Given the description of an element on the screen output the (x, y) to click on. 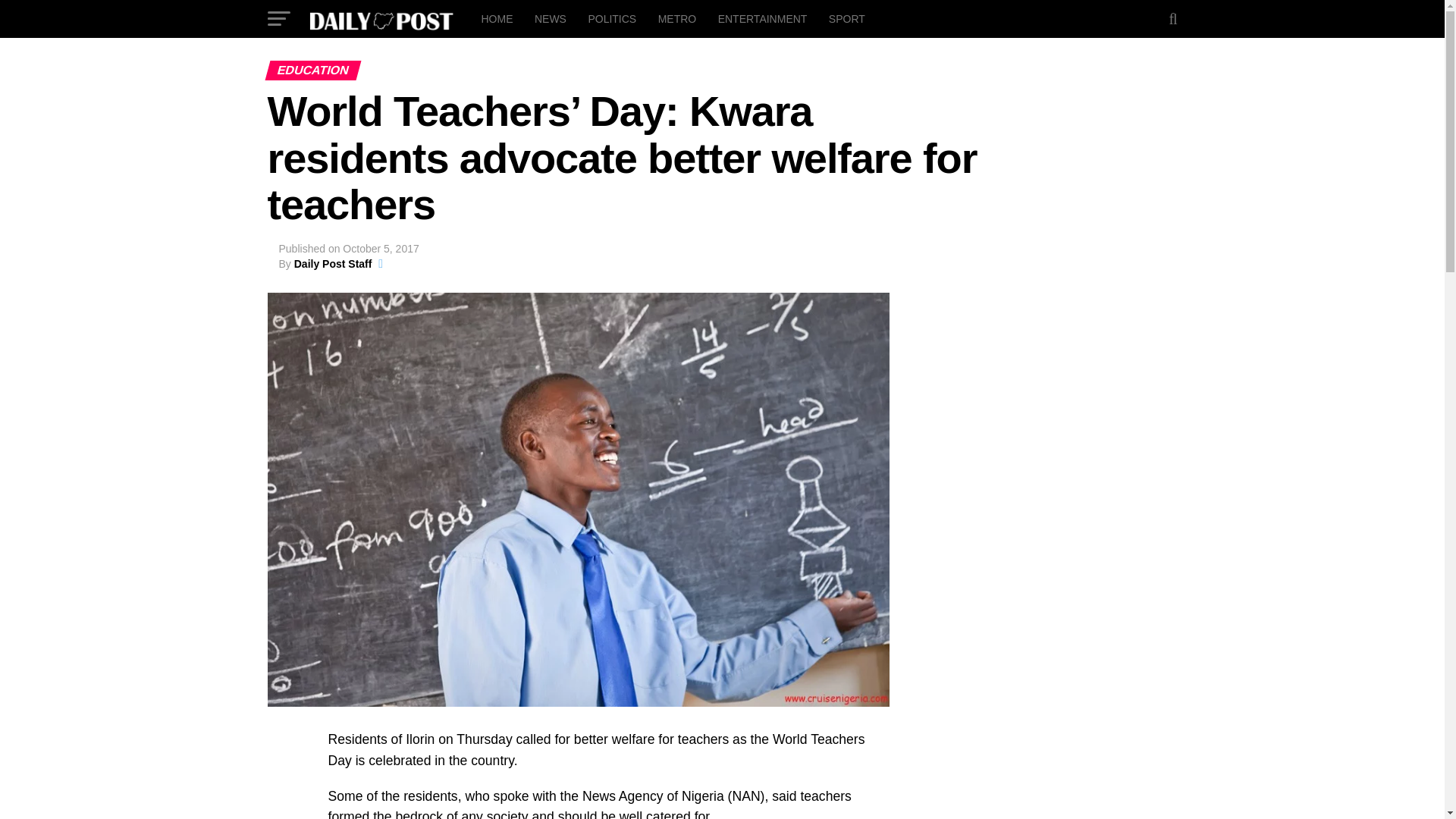
NEWS (550, 18)
Daily Post Staff (333, 263)
SPORT (847, 18)
METRO (677, 18)
Posts by Daily Post Staff (333, 263)
ENTERTAINMENT (762, 18)
POLITICS (611, 18)
HOME (496, 18)
